Given the description of an element on the screen output the (x, y) to click on. 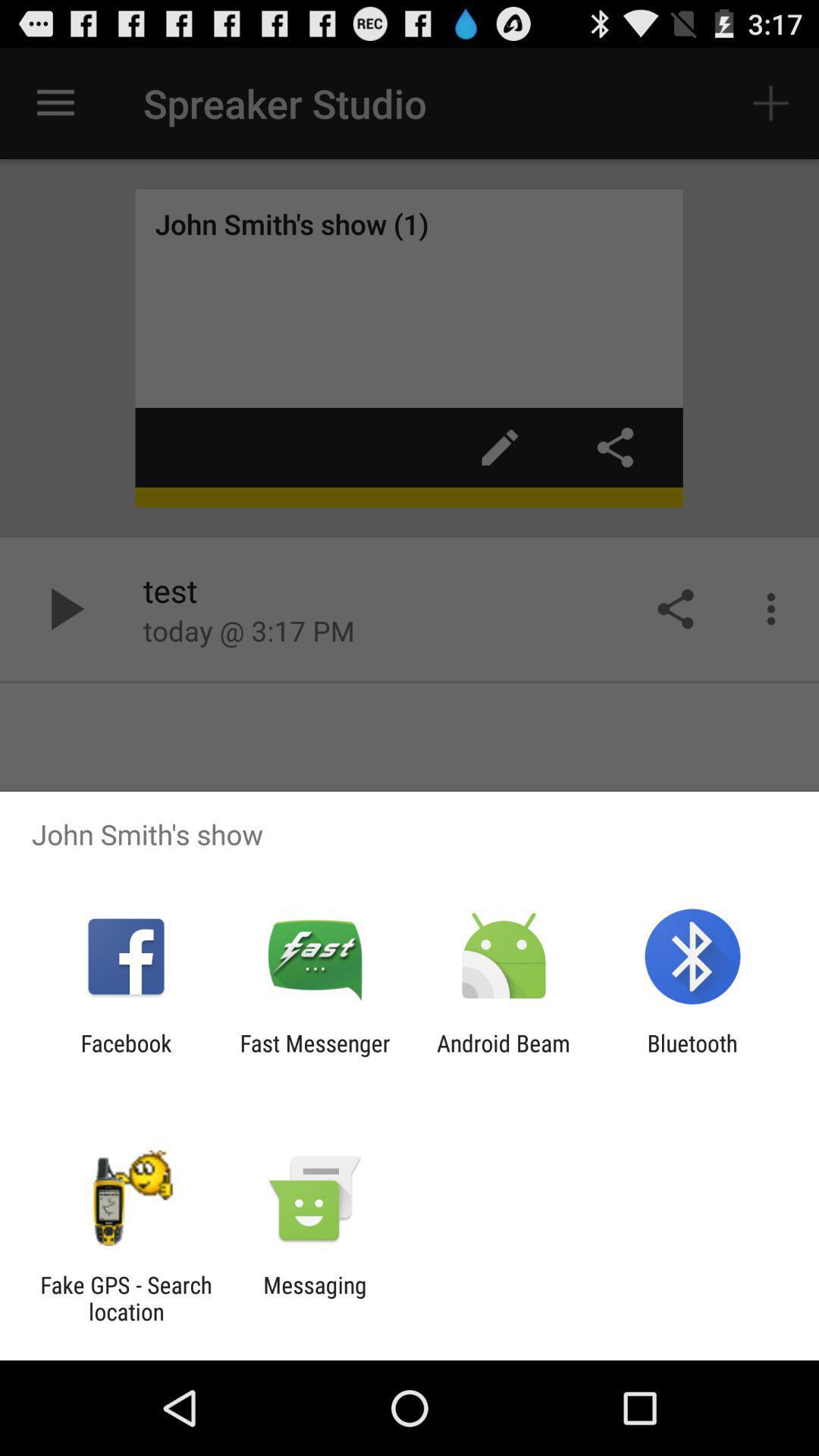
turn off item to the left of the android beam item (315, 1056)
